Given the description of an element on the screen output the (x, y) to click on. 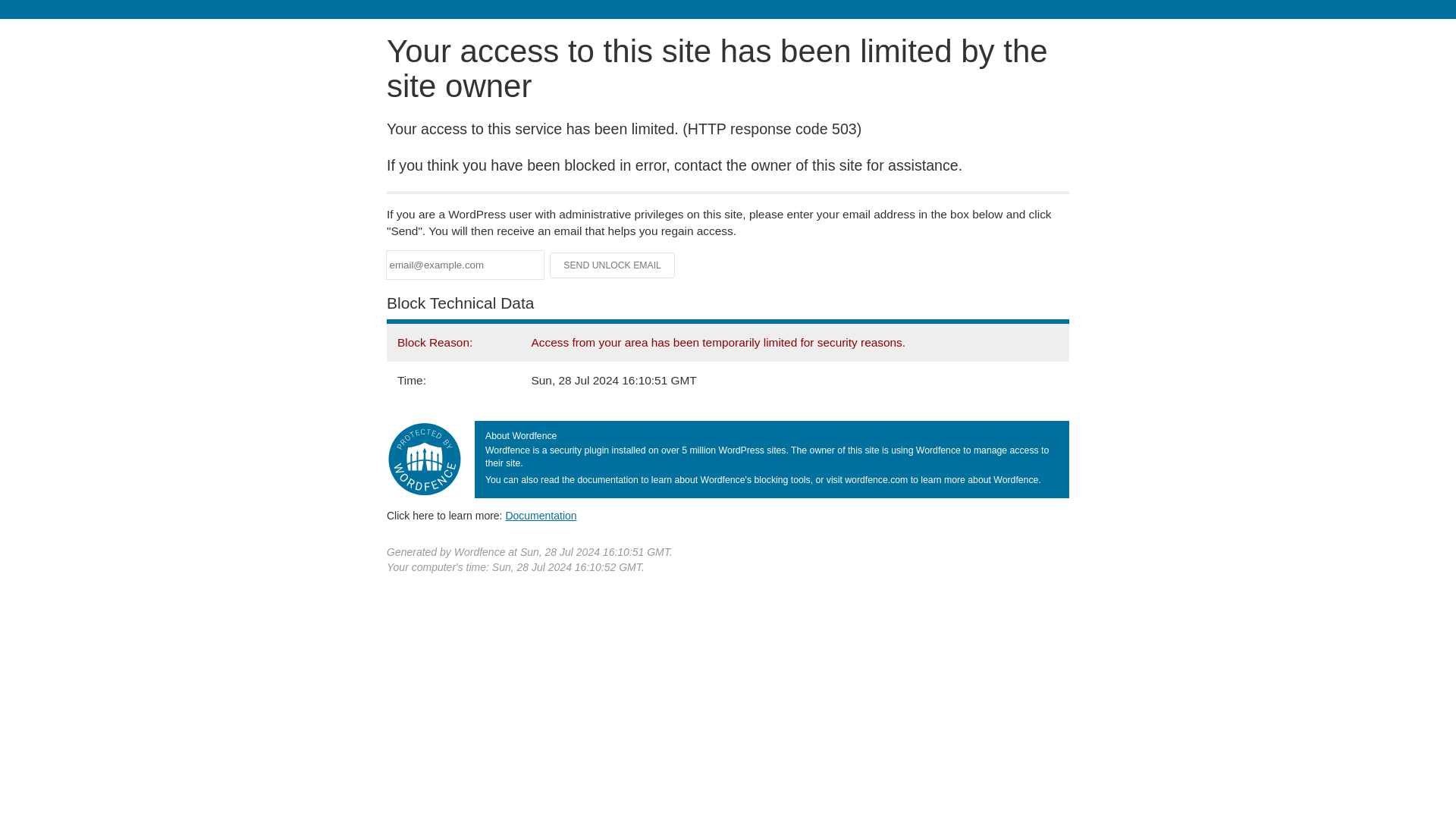
Send Unlock Email (612, 265)
Send Unlock Email (612, 265)
Documentation (540, 515)
